Given the description of an element on the screen output the (x, y) to click on. 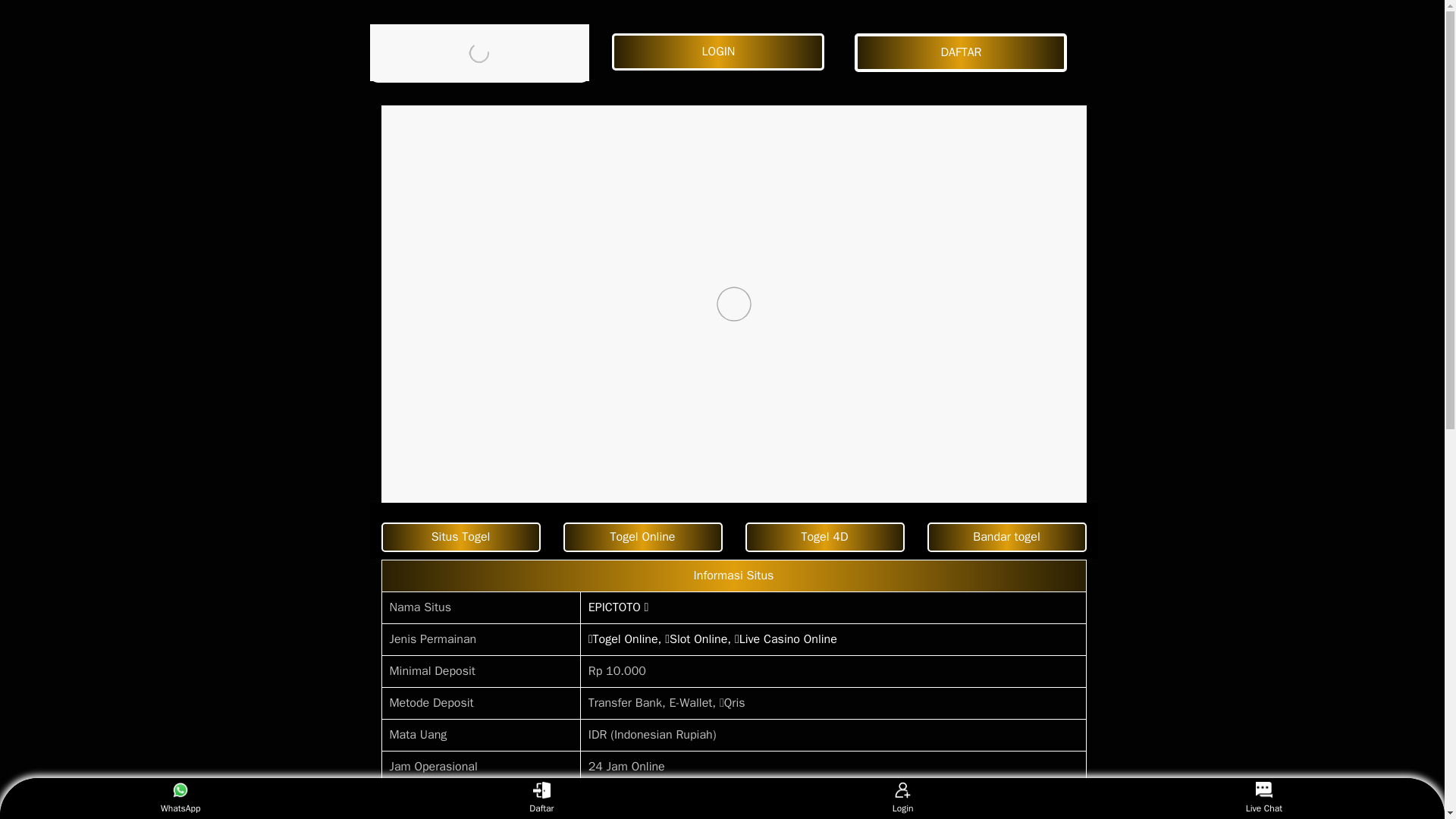
Situs Togel (460, 537)
Bandar togel (1006, 537)
Live Chat (1263, 797)
Login (903, 797)
LOGIN (721, 51)
Togel Online (642, 537)
togel online terpercaya (1006, 537)
Togel Online (642, 537)
Daftar (541, 797)
DAFTAR (964, 52)
